Given the description of an element on the screen output the (x, y) to click on. 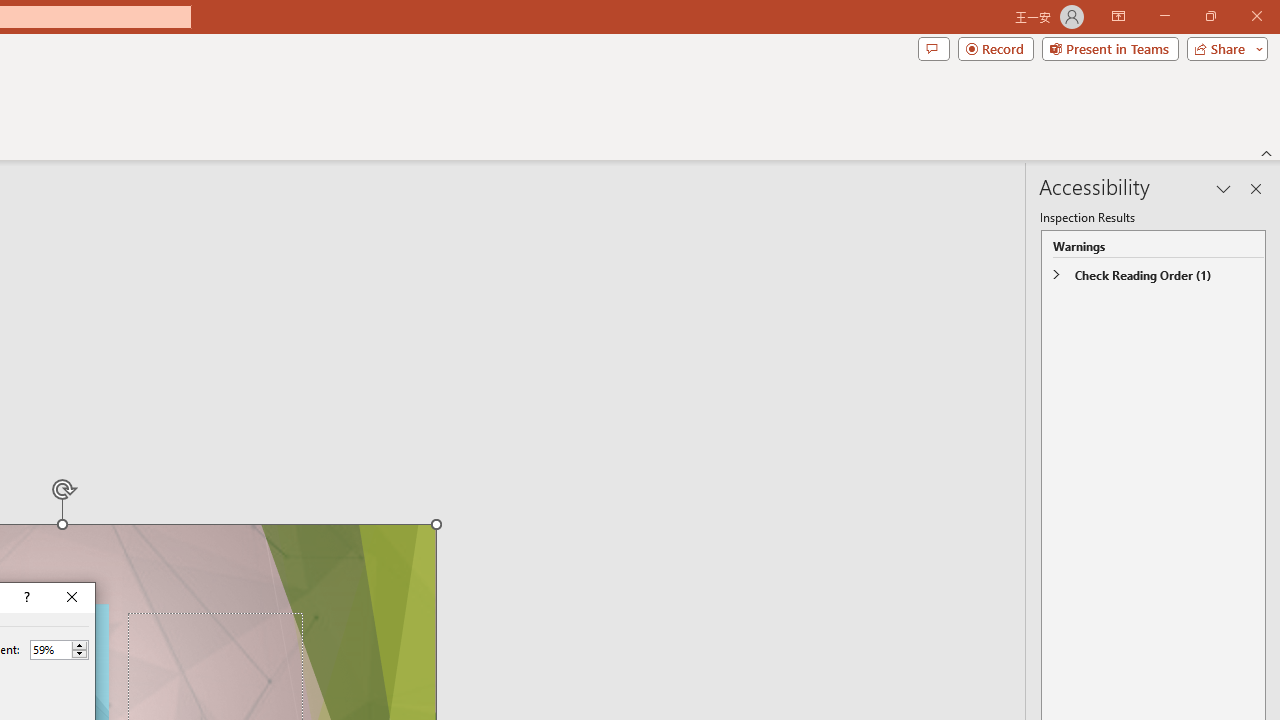
Context help (25, 597)
Percent (59, 650)
